Given the description of an element on the screen output the (x, y) to click on. 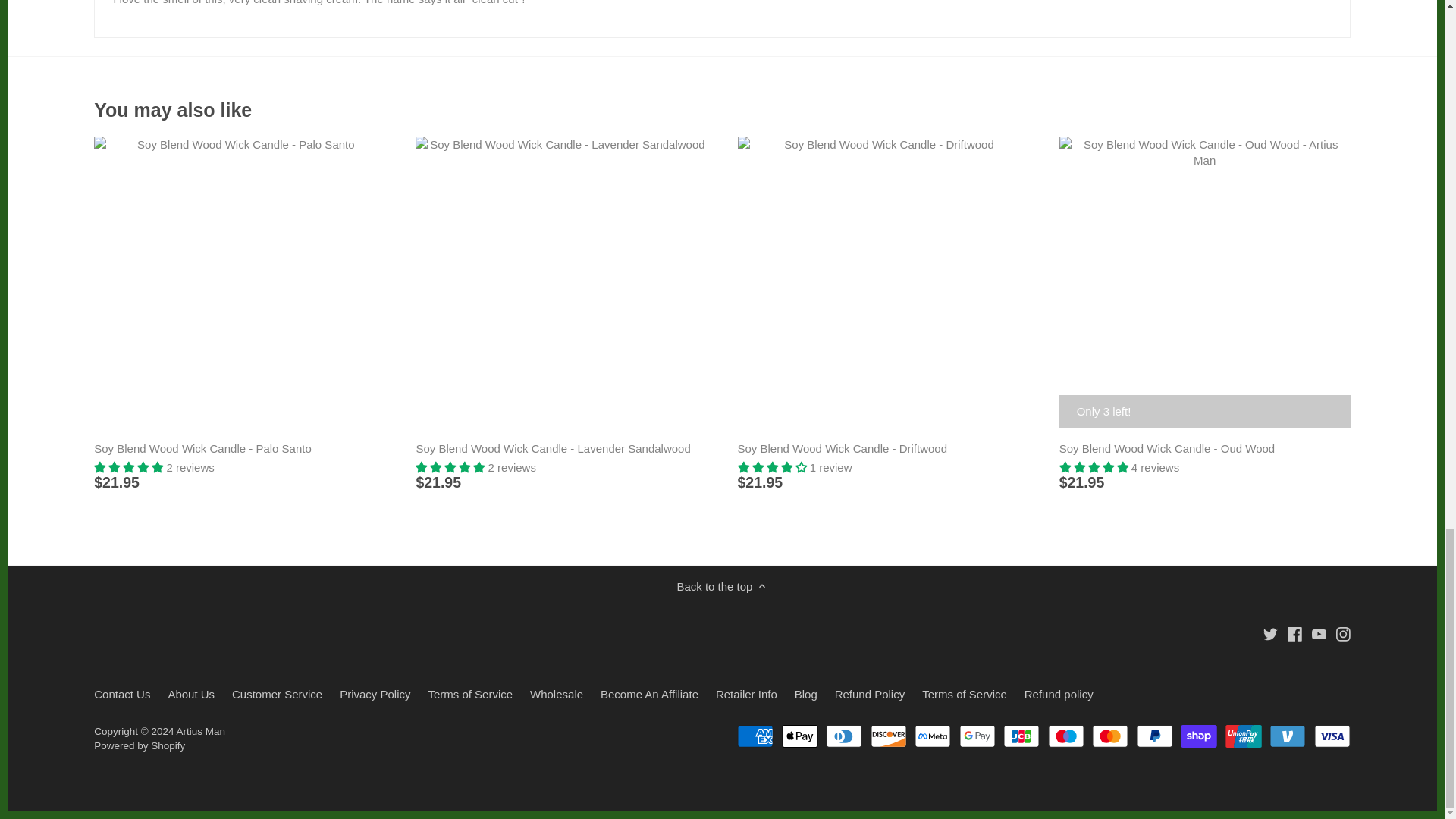
Apple Pay (799, 735)
Discover (888, 735)
Google Pay (977, 735)
Youtube (1318, 634)
Youtube (1318, 632)
Diners Club (843, 735)
Meta Pay (932, 735)
Facebook (1294, 632)
Instagram (1342, 634)
American Express (754, 735)
Twitter (1270, 632)
Facebook (1294, 634)
Twitter (1269, 634)
Instagram (1343, 632)
